Given the description of an element on the screen output the (x, y) to click on. 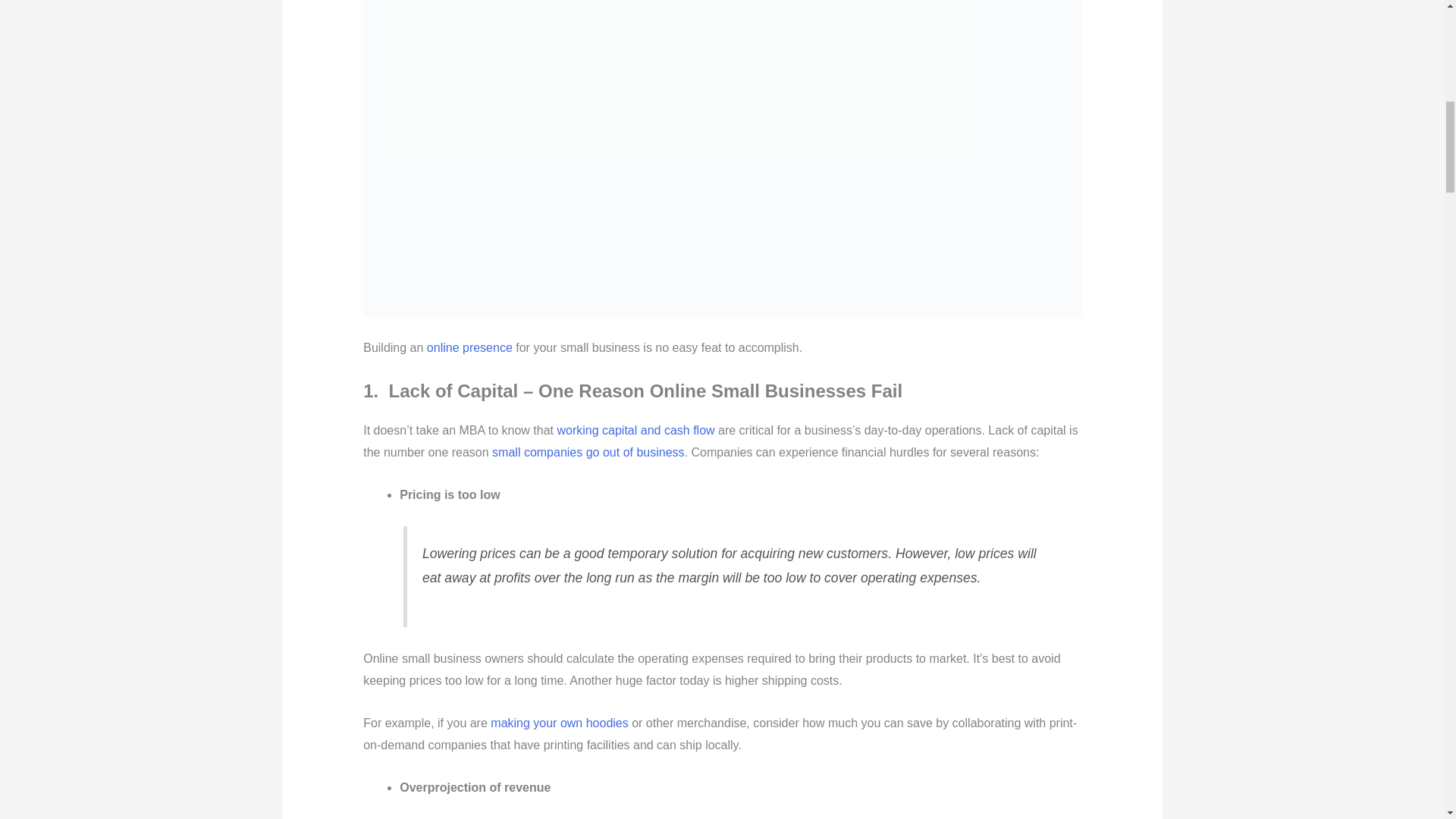
working capital and cash flow (635, 430)
small companies go out of business (588, 451)
making your own hoodies (558, 722)
online presence (469, 347)
